Given the description of an element on the screen output the (x, y) to click on. 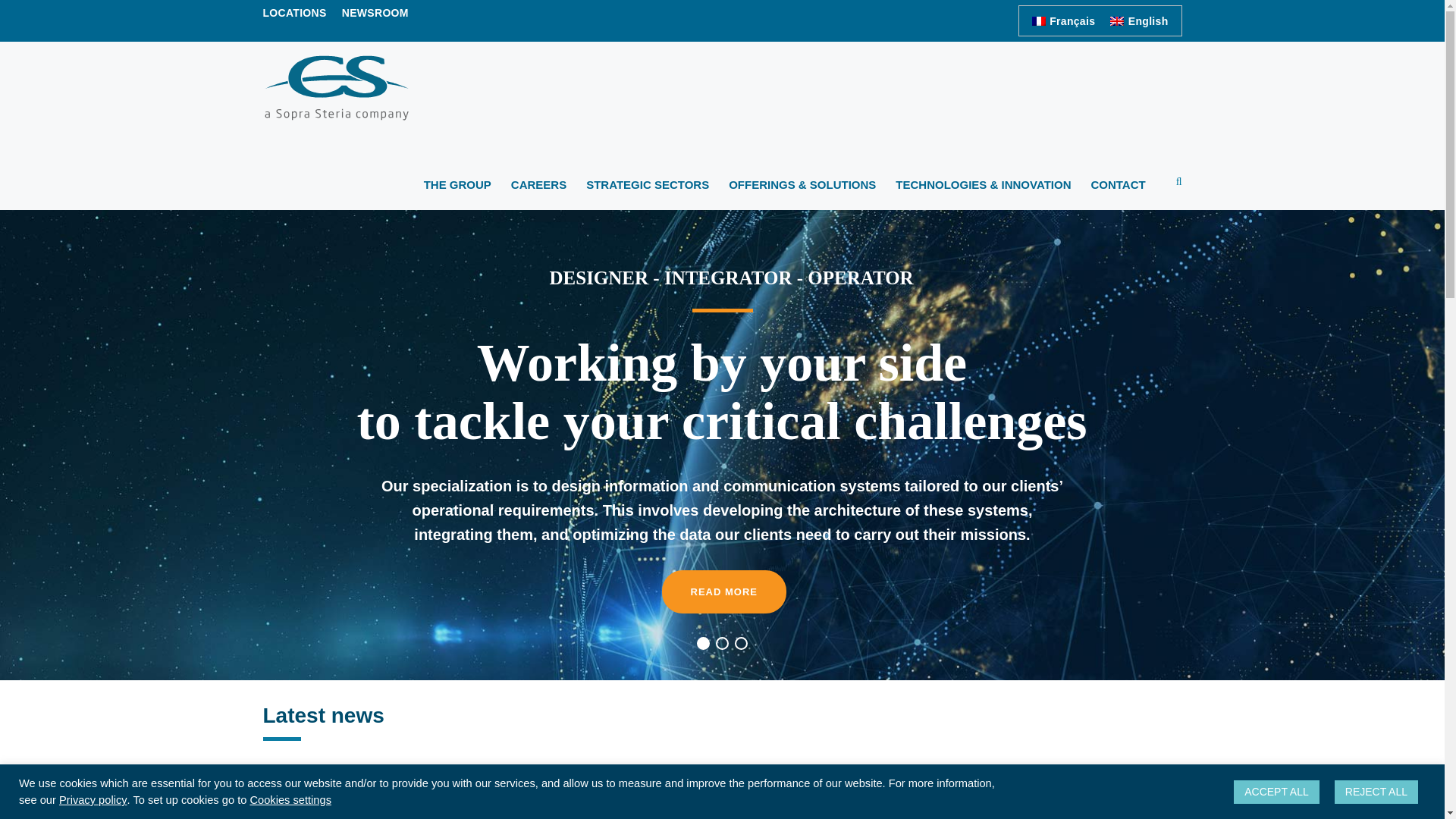
LOCATIONS (294, 15)
CONTACT (1117, 192)
READ MORE (723, 591)
NEWSROOM (375, 15)
CAREERS (538, 192)
English (1138, 20)
STRATEGIC SECTORS (647, 192)
CS GROUP (335, 90)
THE GROUP (457, 192)
